Given the description of an element on the screen output the (x, y) to click on. 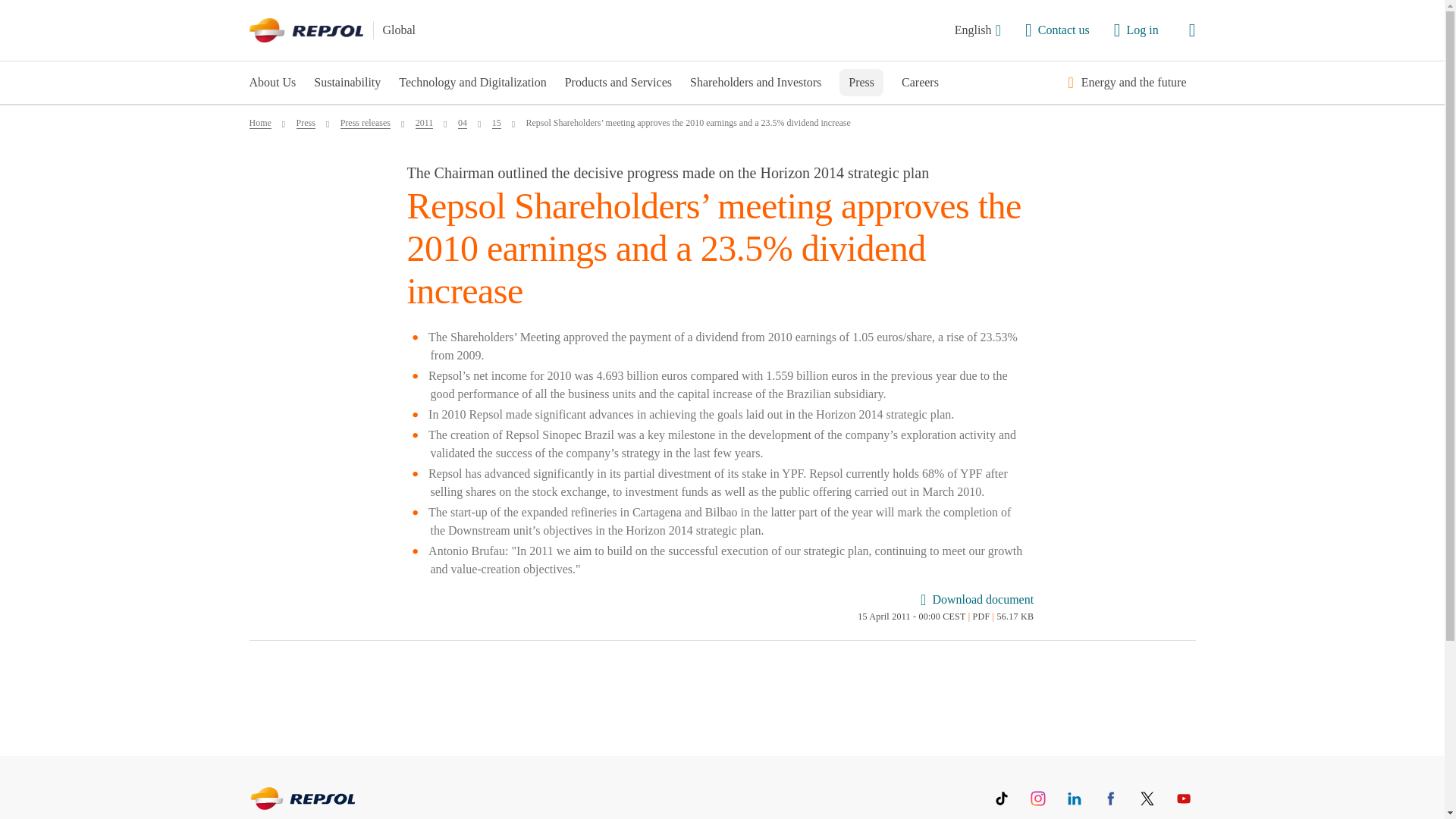
Repsol logo (305, 30)
Global (397, 30)
Contact us (1057, 30)
Energy and the future (1133, 82)
